Given the description of an element on the screen output the (x, y) to click on. 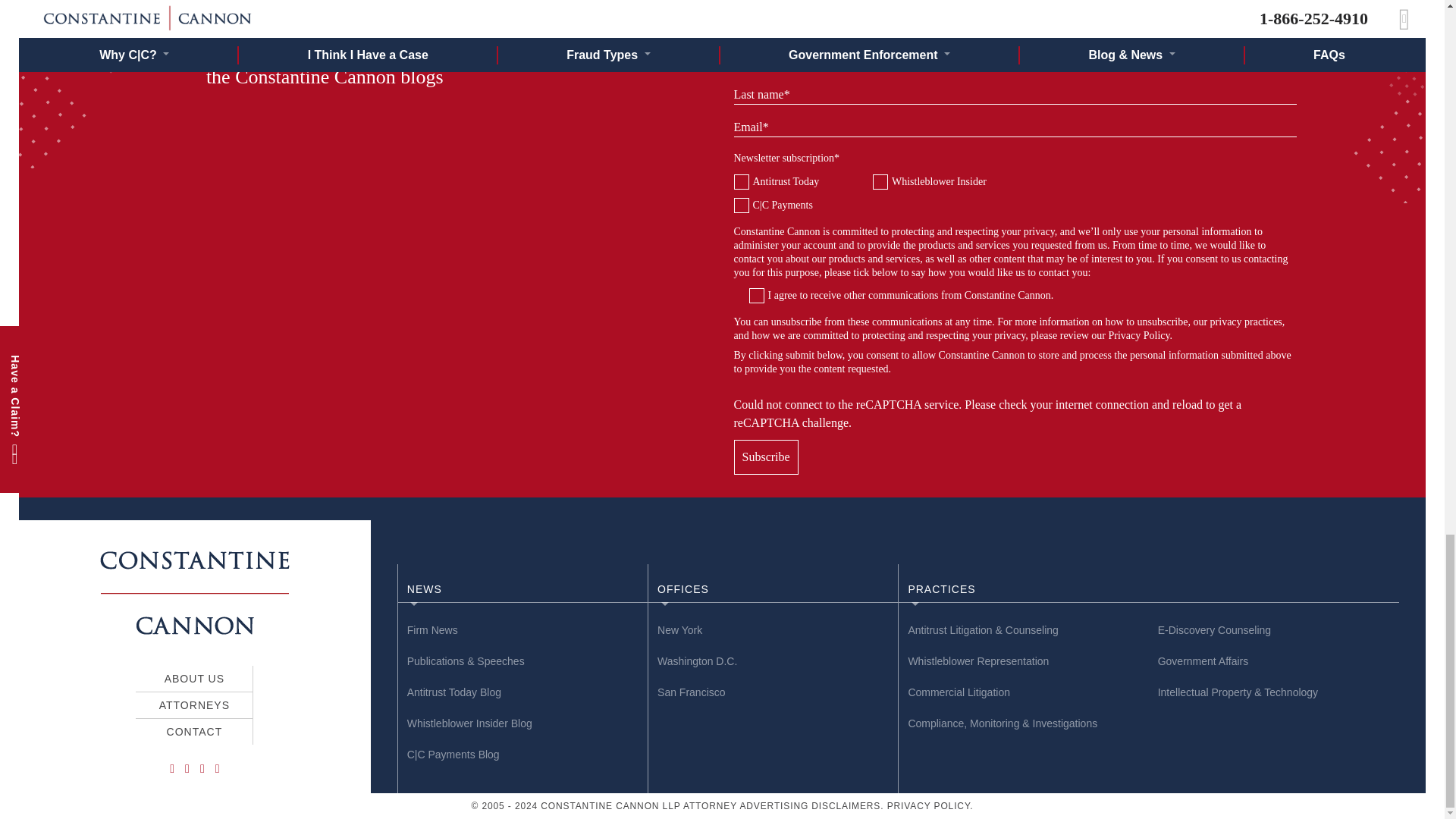
Open twitter in a new window (186, 768)
Subscribe (765, 457)
Open youtube in a new window (202, 768)
Open linkedin in a new window (217, 768)
Open facebook in a new window (172, 768)
